Given the description of an element on the screen output the (x, y) to click on. 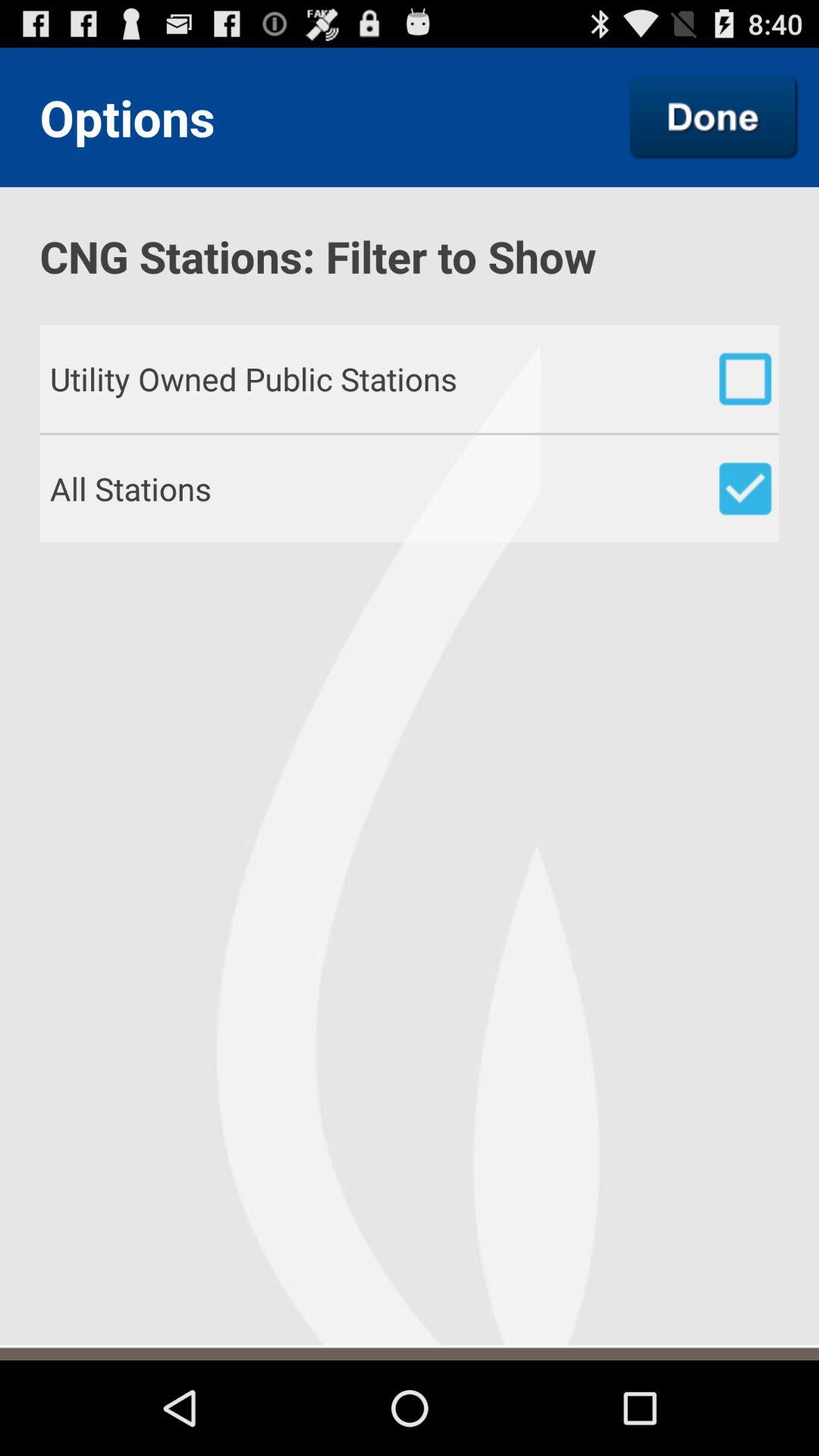
choose the all stations icon (414, 488)
